Given the description of an element on the screen output the (x, y) to click on. 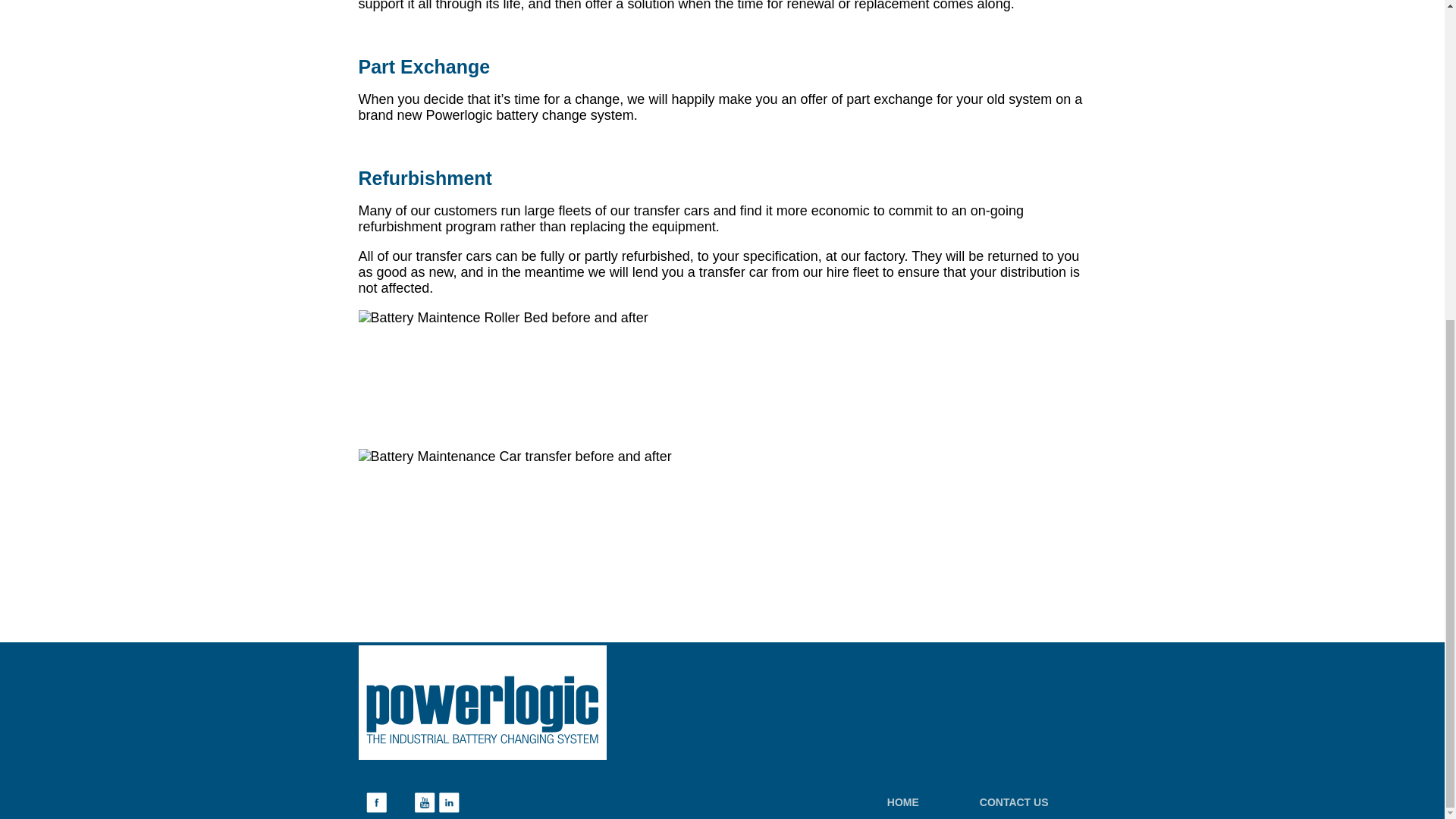
See our Twitter Feed (400, 802)
Facebook (375, 802)
CONTACT US (1013, 802)
LinkedIn (448, 802)
Powerlogic - The Industrial Batter Changing System (528, 702)
See our Facebook Page (375, 802)
YouTube (423, 802)
Twitter (400, 802)
HOME (903, 802)
View our YouTube Channel (423, 802)
View our LinkedIn page (448, 802)
